Given the description of an element on the screen output the (x, y) to click on. 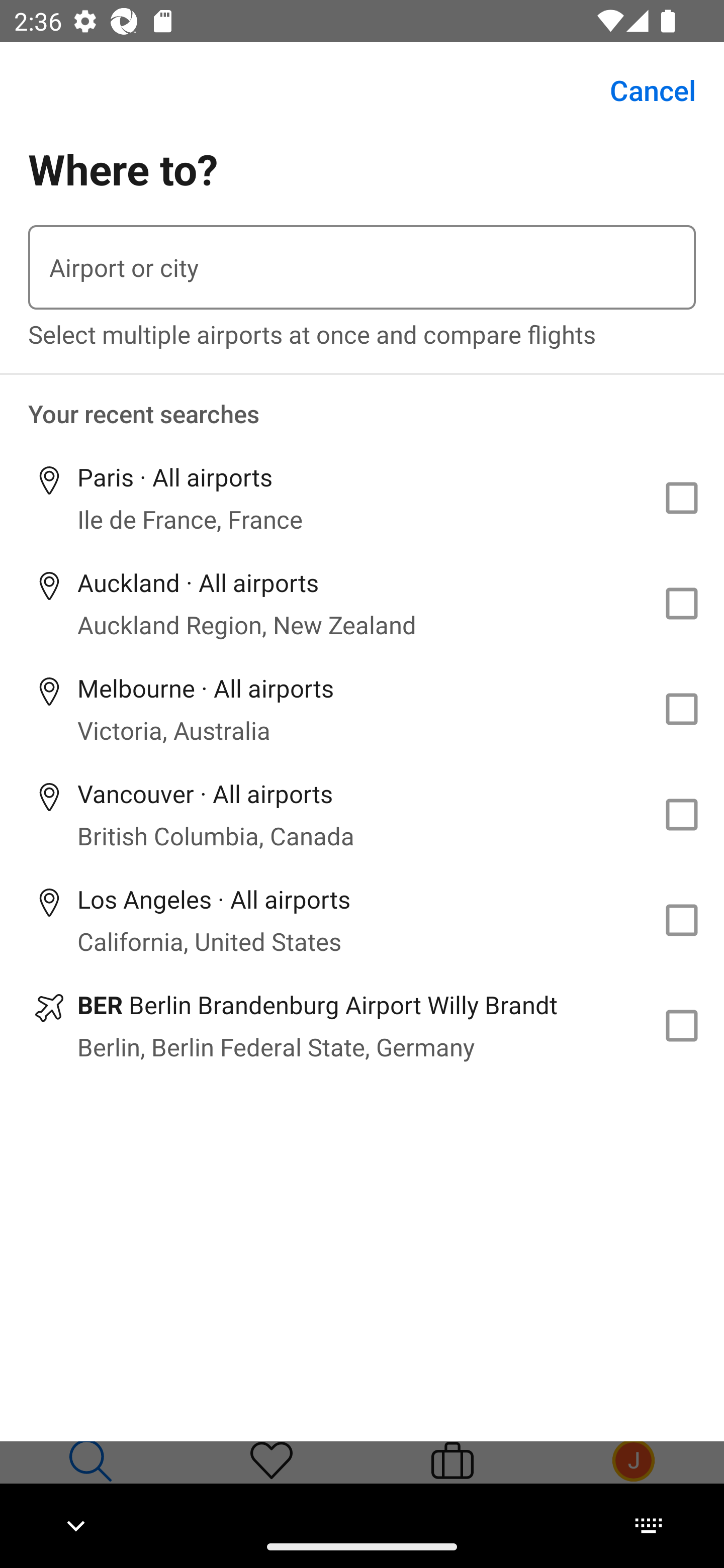
Cancel (641, 90)
Airport or city (361, 266)
Paris · All airports Ile de France, France (362, 497)
Melbourne · All airports Victoria, Australia (362, 709)
Vancouver · All airports British Columbia, Canada (362, 814)
